Given the description of an element on the screen output the (x, y) to click on. 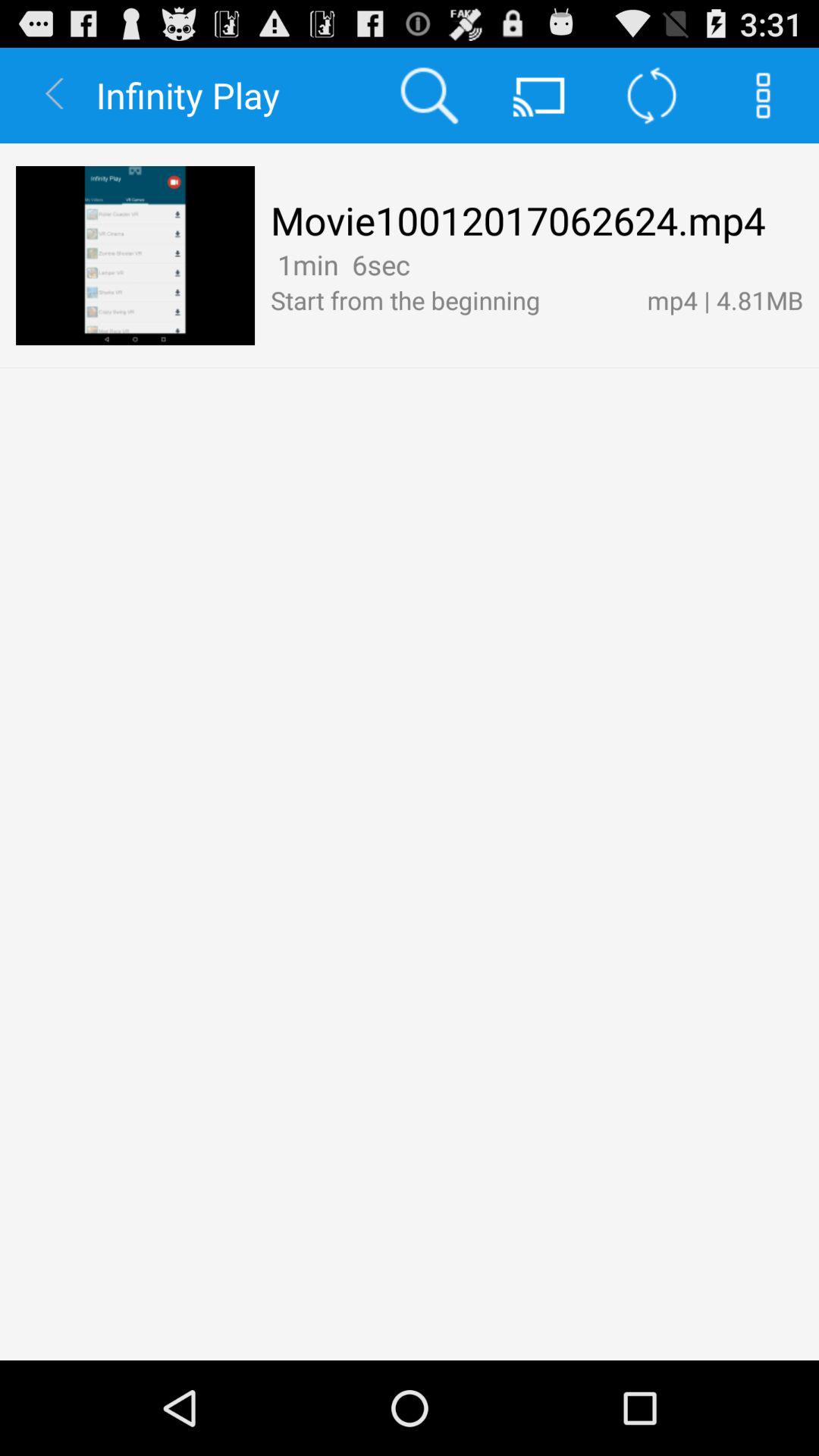
turn on icon to the right of the  1min  6sec icon (421, 264)
